Given the description of an element on the screen output the (x, y) to click on. 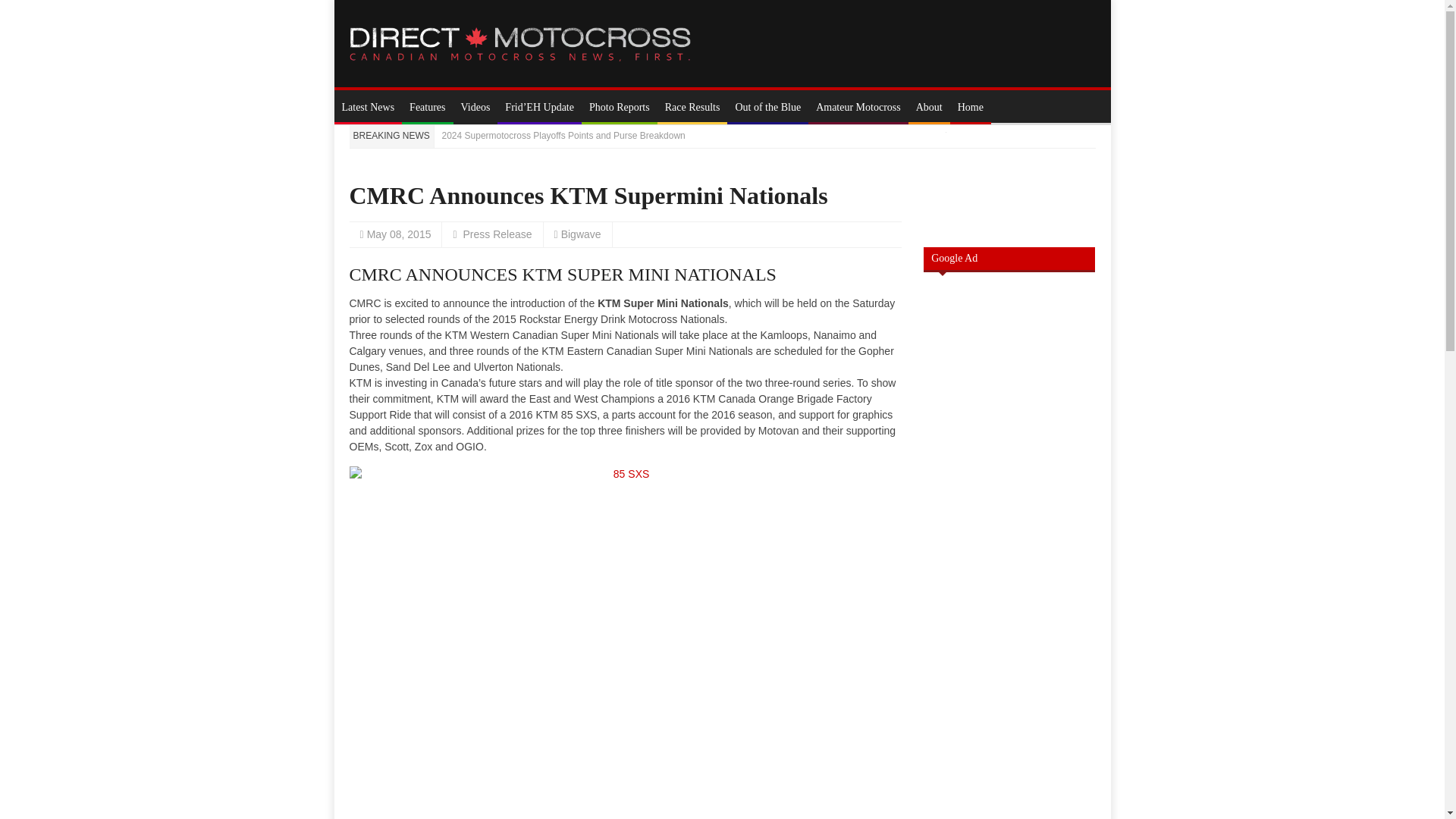
Bigwave (580, 234)
Latest News (367, 107)
Photo Reports (619, 107)
Out of the Blue (767, 107)
Race Results (693, 107)
Home (970, 107)
Advertisement (1008, 790)
Features (426, 107)
Press Release (497, 234)
2024 Supermotocross Playoffs Points and Purse Breakdown (562, 135)
